Given the description of an element on the screen output the (x, y) to click on. 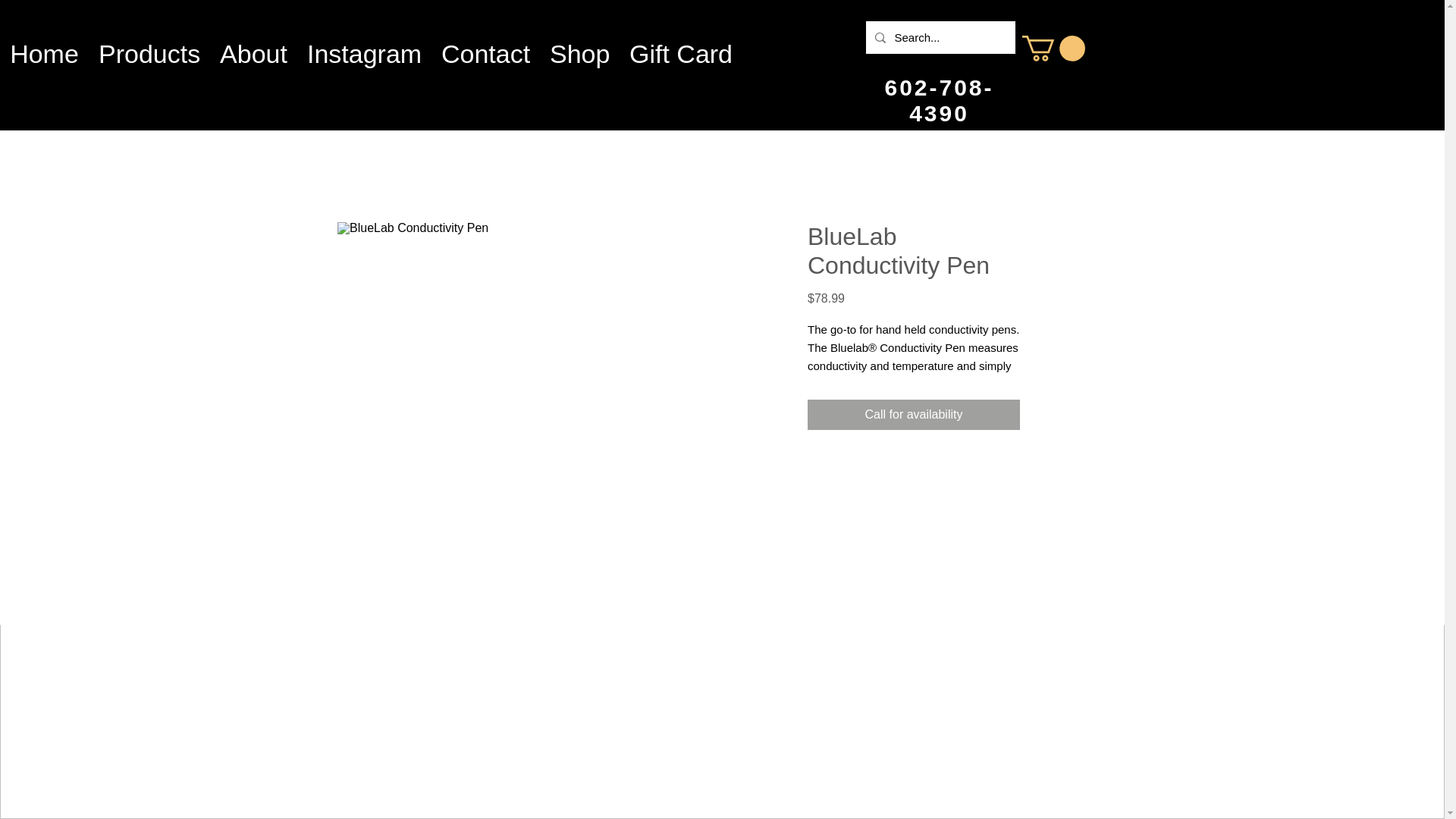
Shop (580, 45)
Instagram (363, 45)
Home (44, 45)
About (253, 45)
Contact (485, 45)
Products (148, 45)
